Given the description of an element on the screen output the (x, y) to click on. 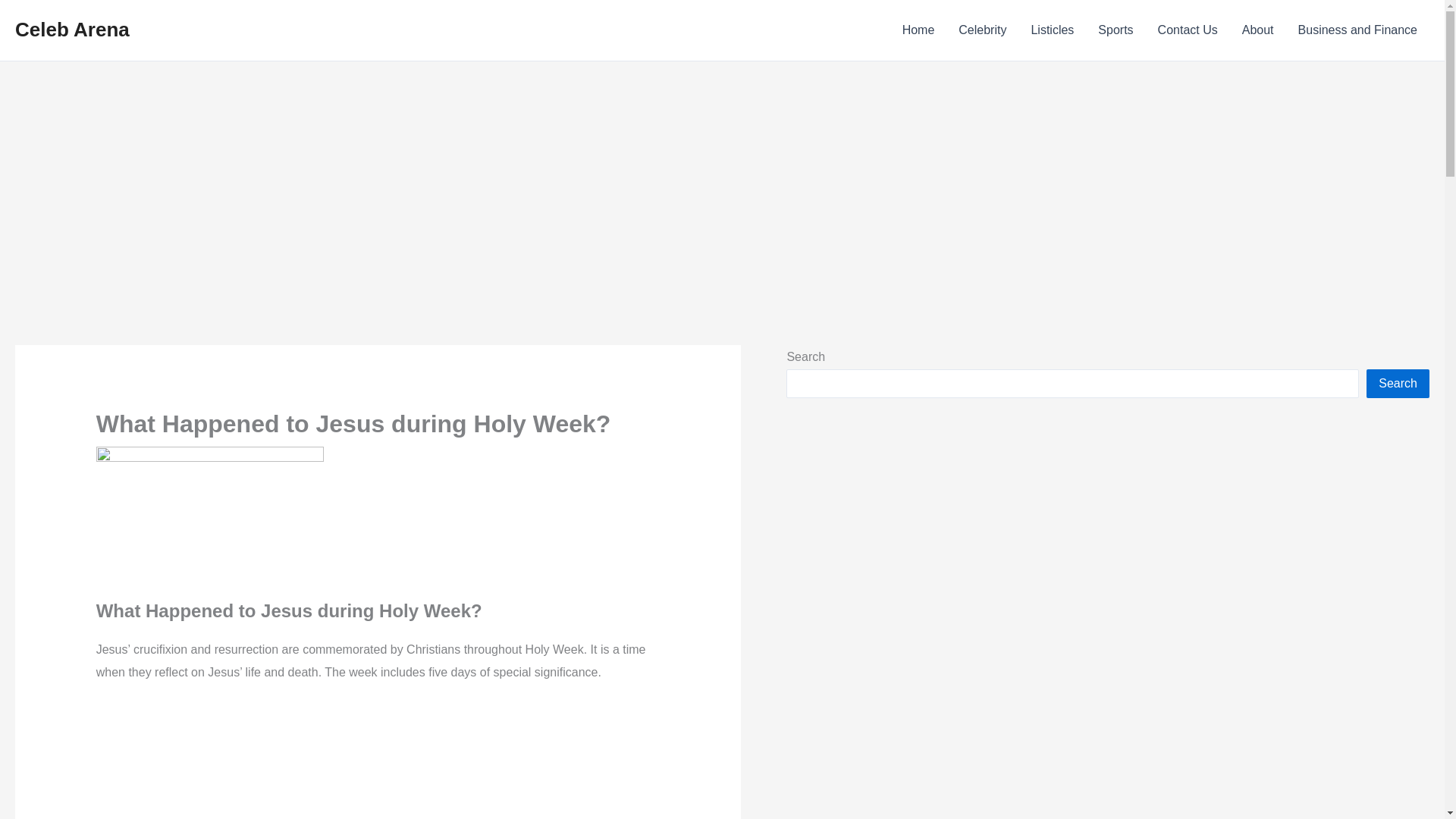
Advertisement (378, 760)
Home (918, 30)
Business and Finance (1357, 30)
Celebrity (981, 30)
Listicles (1051, 30)
Contact Us (1187, 30)
Celeb Arena (71, 29)
Sports (1115, 30)
About (1257, 30)
